Given the description of an element on the screen output the (x, y) to click on. 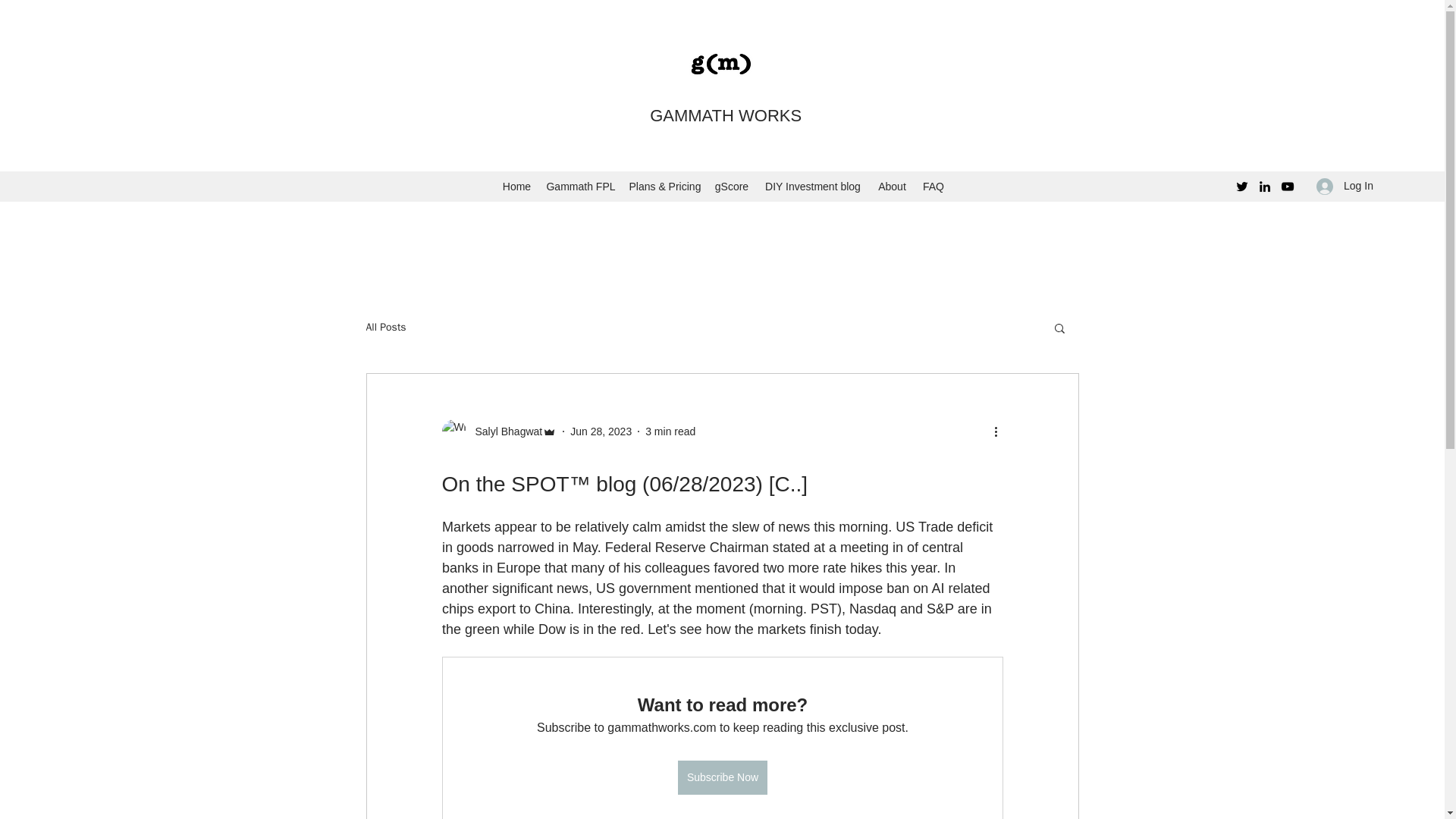
Subscribe Now (722, 777)
3 min read (670, 431)
Log In (1345, 185)
Salyl Bhagwat (498, 431)
GAMMATH WORKS (725, 115)
Gammath FPL (579, 186)
About (891, 186)
DIY Investment blog (812, 186)
Jun 28, 2023 (600, 431)
All Posts (385, 327)
Home (516, 186)
gScore (730, 186)
FAQ (933, 186)
Salyl Bhagwat (503, 431)
